Given the description of an element on the screen output the (x, y) to click on. 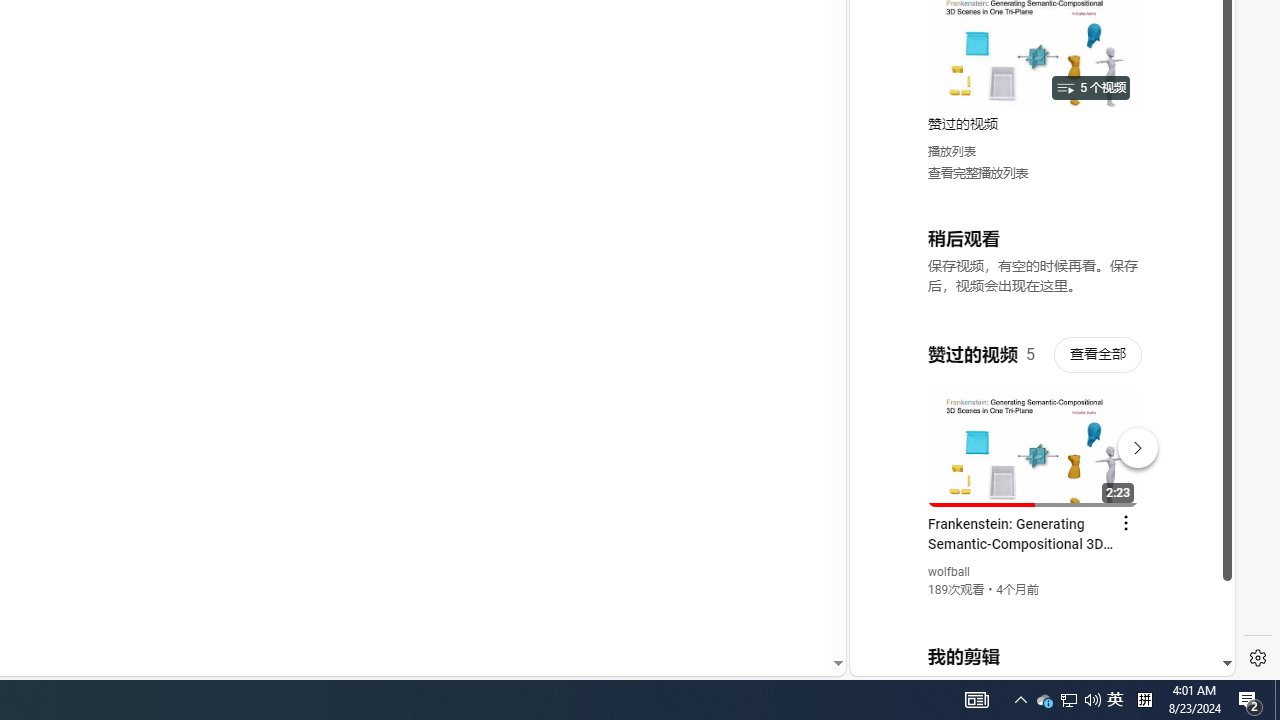
Class: dict_pnIcon rms_img (1028, 660)
YouTube - YouTube (1034, 266)
AutomationID: mfa_root (762, 603)
Click to scroll right (1196, 83)
Global web icon (888, 432)
YouTube (1034, 432)
US[ju] (917, 660)
Actions for this site (1131, 443)
